Given the description of an element on the screen output the (x, y) to click on. 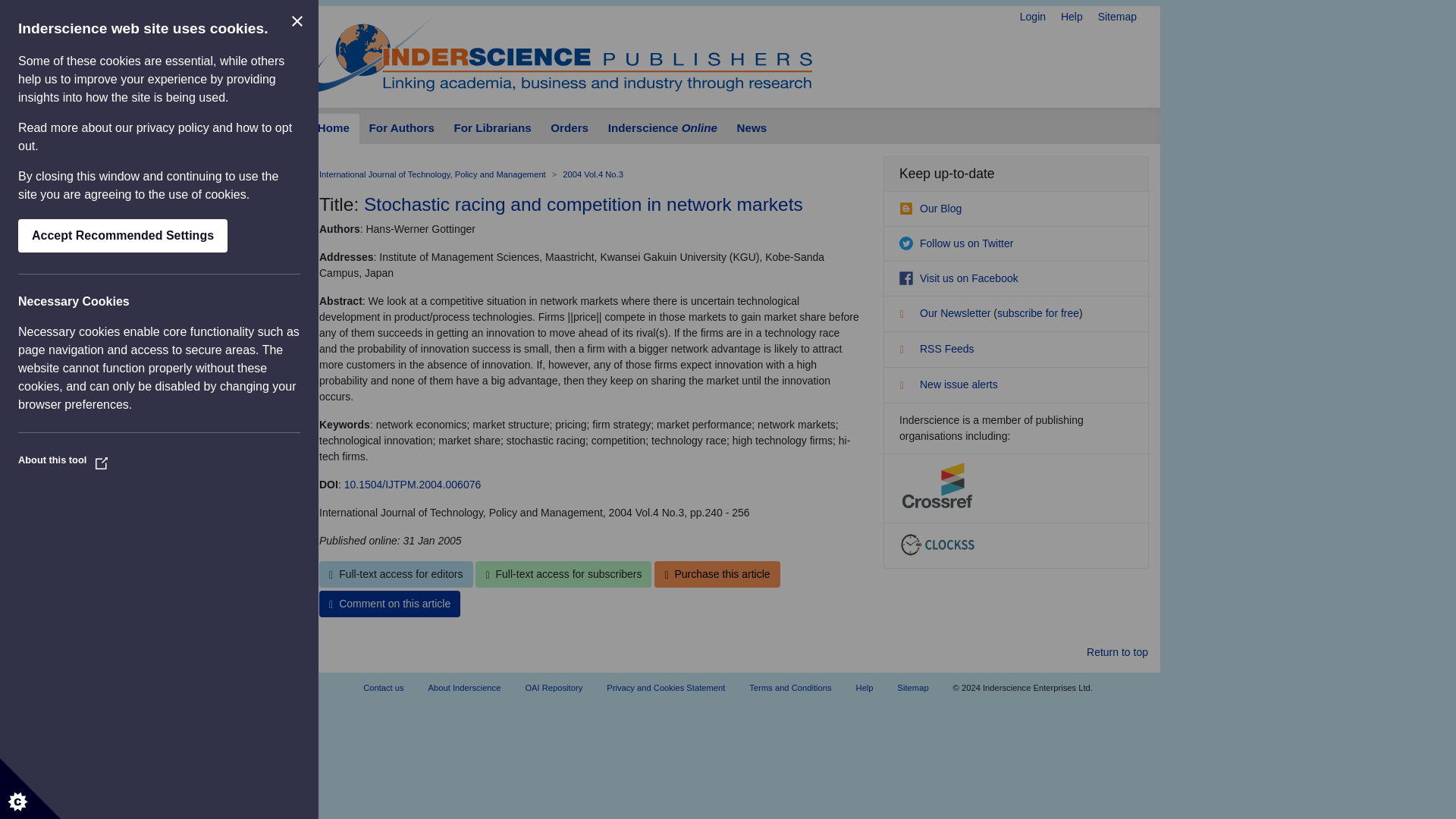
New issue alerts (948, 384)
Comment on this article (389, 603)
list (906, 315)
Follow us on Twitter (956, 243)
Return to the top of the page (1117, 652)
Accept Recommended Settings (122, 235)
For Authors (401, 128)
Inderscience Online (662, 128)
Full-text access for editors (395, 574)
RSS (906, 351)
Sitemap (1117, 16)
Visit us on Facebook (958, 277)
Our Blog (929, 208)
flag (906, 386)
News (751, 128)
